Given the description of an element on the screen output the (x, y) to click on. 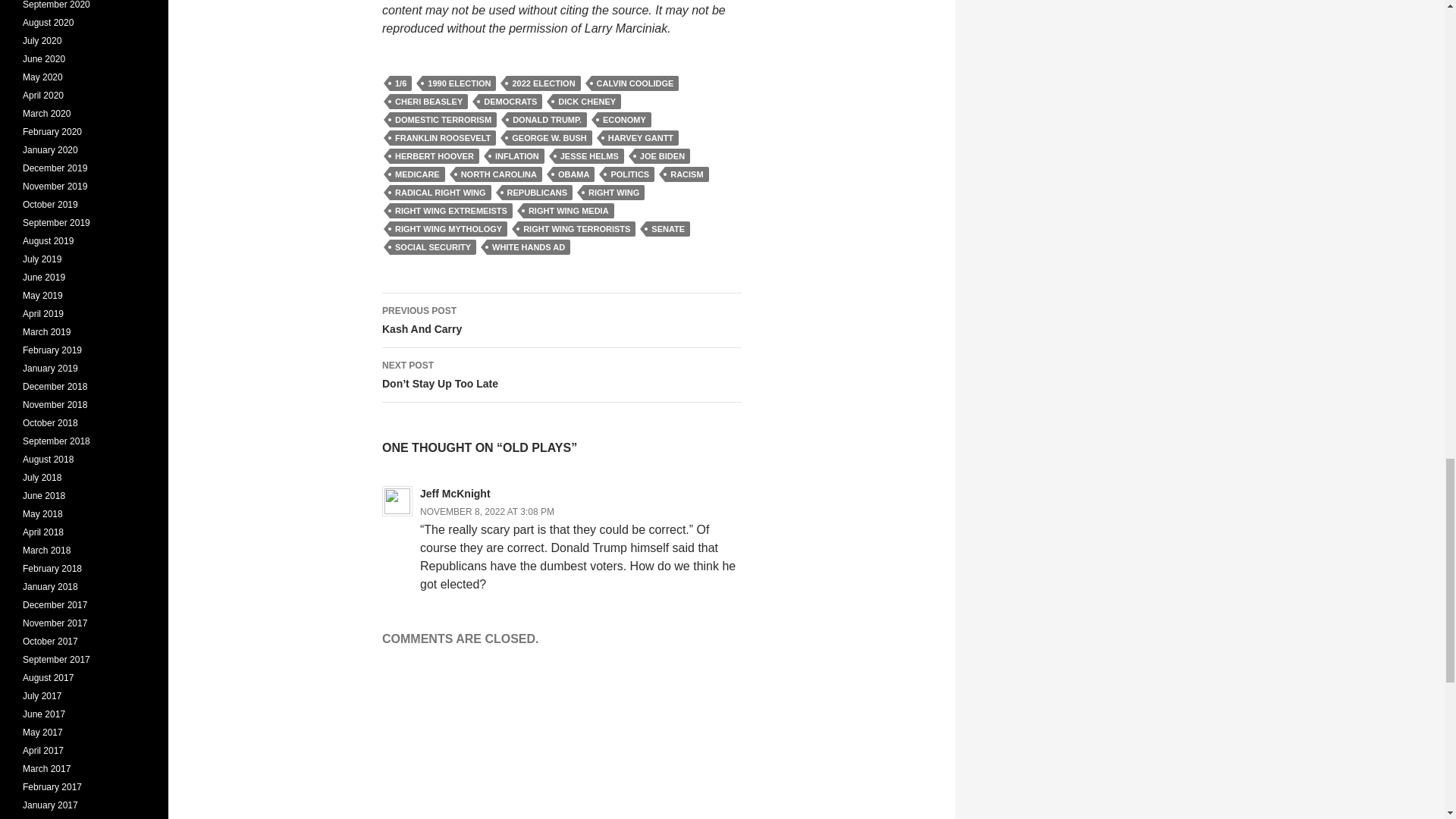
DONALD TRUMP. (546, 119)
JOE BIDEN (662, 155)
DOMESTIC TERRORISM (443, 119)
MEDICARE (417, 174)
1990 ELECTION (459, 83)
FRANKLIN ROOSEVELT (443, 137)
DICK CHENEY (587, 101)
ECONOMY (623, 119)
CALVIN COOLIDGE (635, 83)
RADICAL RIGHT WING (441, 192)
